Given the description of an element on the screen output the (x, y) to click on. 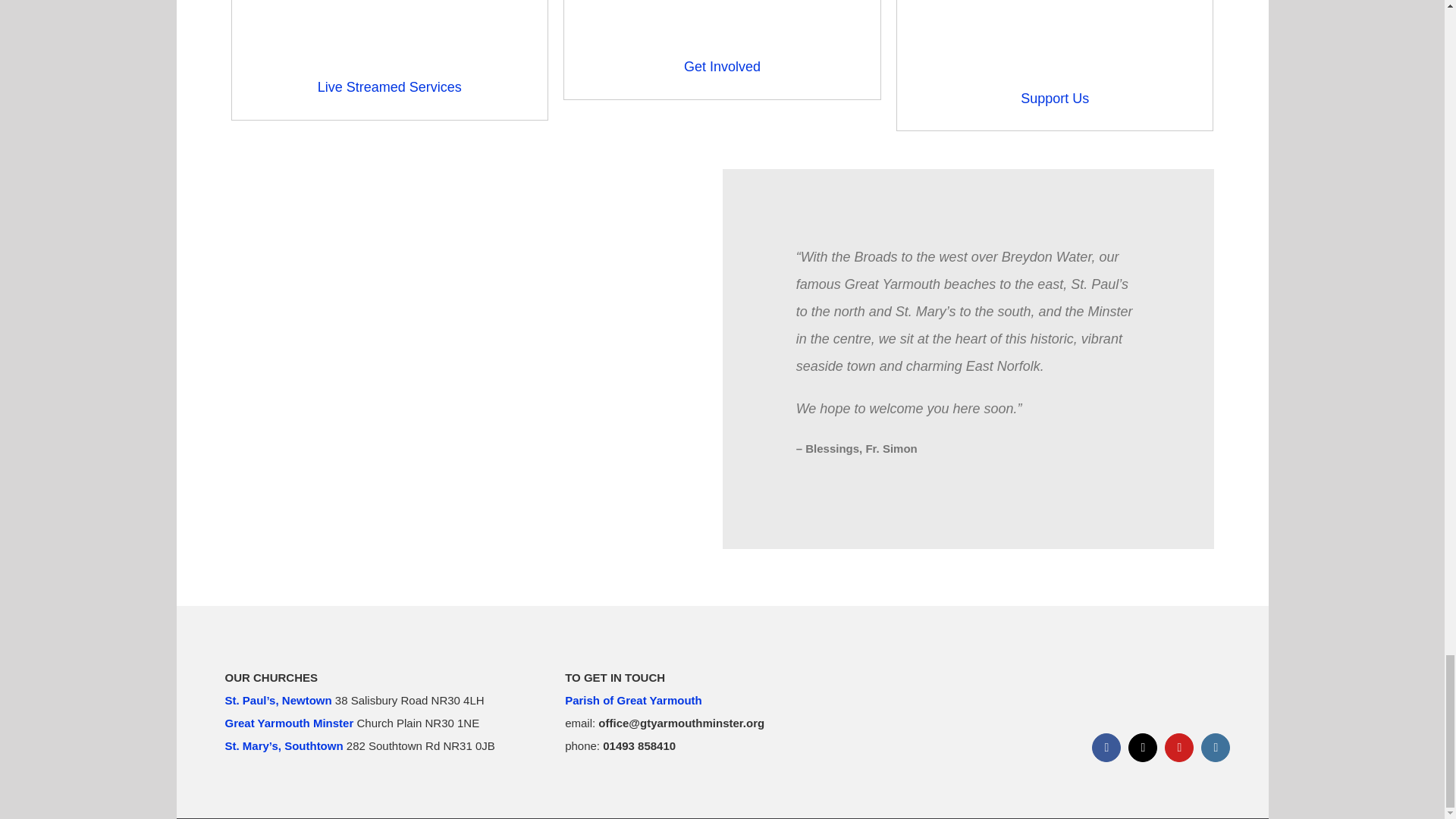
X (1142, 747)
Facebook (1106, 747)
YouTube (1178, 747)
Instagram (982, 711)
parish-logo (1215, 747)
